Given the description of an element on the screen output the (x, y) to click on. 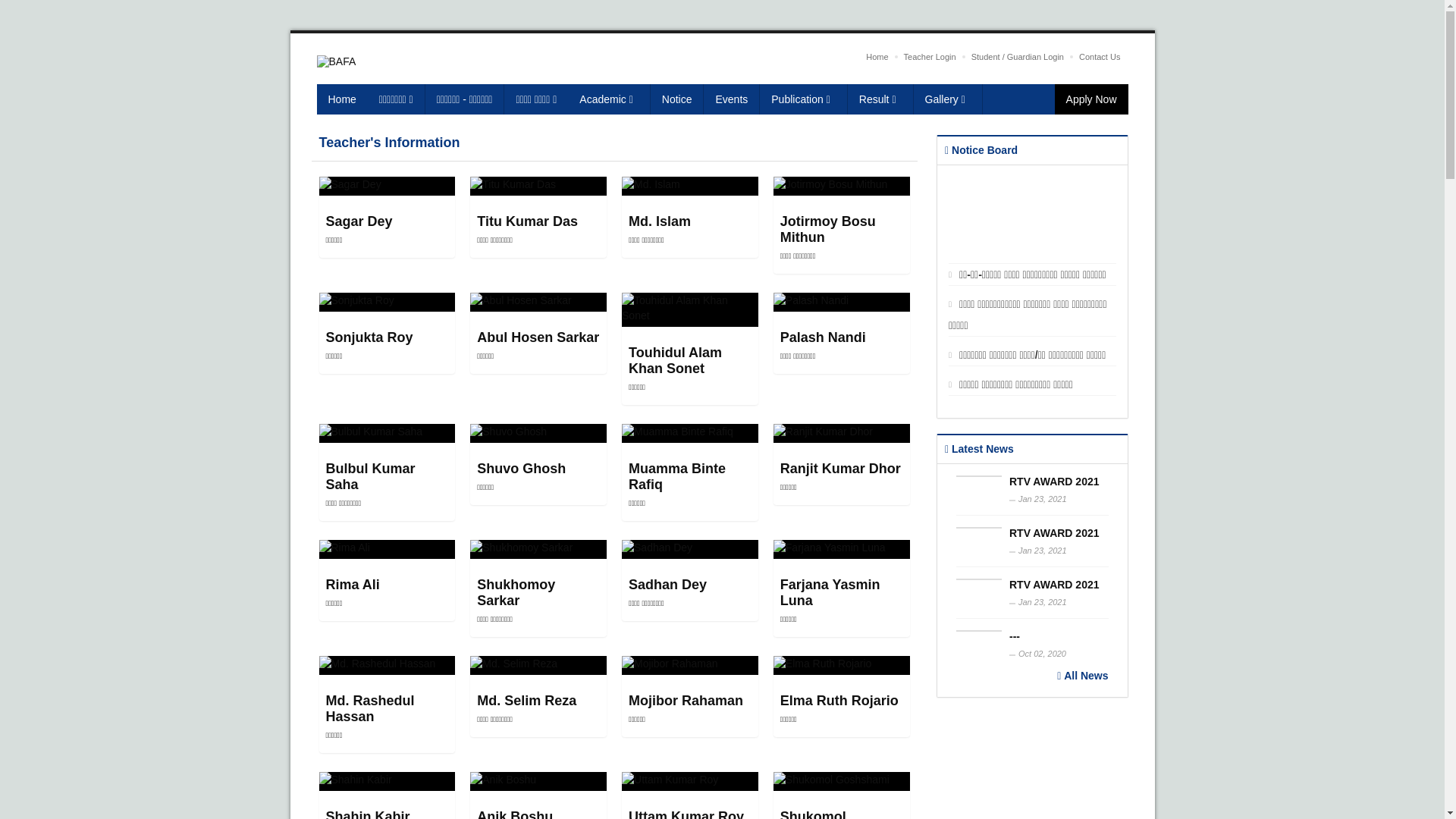
Jotirmoy Bosu Mithun Element type: text (827, 228)
Touhidul Alam Khan Sonet Element type: text (674, 360)
Titu Kumar Das Element type: text (526, 221)
Mojibor Rahaman Element type: text (685, 700)
RTV AWARD 2021 Element type: text (1054, 584)
Elma Ruth Rojario Element type: text (839, 700)
Palash Nandi Element type: text (823, 337)
Notice Element type: text (677, 99)
Academic Element type: text (608, 99)
Sagar Dey Element type: text (359, 221)
Ranjit Kumar Dhor Element type: text (840, 468)
Apply Now Element type: text (1091, 99)
Bulbul Kumar Saha Element type: text (370, 476)
--- Element type: text (1014, 636)
Farjana Yasmin Luna Element type: text (830, 592)
Events Element type: text (731, 99)
All News Element type: text (1082, 675)
Muamma Binte Rafiq Element type: text (676, 476)
Shukhomoy Sarkar Element type: text (515, 592)
Gallery Element type: text (947, 99)
Md. Rashedul Hassan Element type: text (370, 708)
RTV AWARD 2021 Element type: text (1054, 481)
RTV AWARD 2021 Element type: text (1054, 533)
Sonjukta Roy Element type: text (369, 337)
Md. Selim Reza Element type: text (526, 700)
Shuvo Ghosh Element type: text (520, 468)
Sadhan Dey Element type: text (667, 584)
Rima Ali Element type: text (352, 584)
Result Element type: text (880, 99)
Abul Hosen Sarkar Element type: text (537, 337)
Home Element type: text (341, 99)
Contact Us Element type: text (1099, 56)
Teacher Login Element type: text (929, 56)
Publication Element type: text (803, 99)
Student / Guardian Login Element type: text (1017, 56)
Home Element type: text (876, 56)
Md. Islam Element type: text (659, 221)
